Given the description of an element on the screen output the (x, y) to click on. 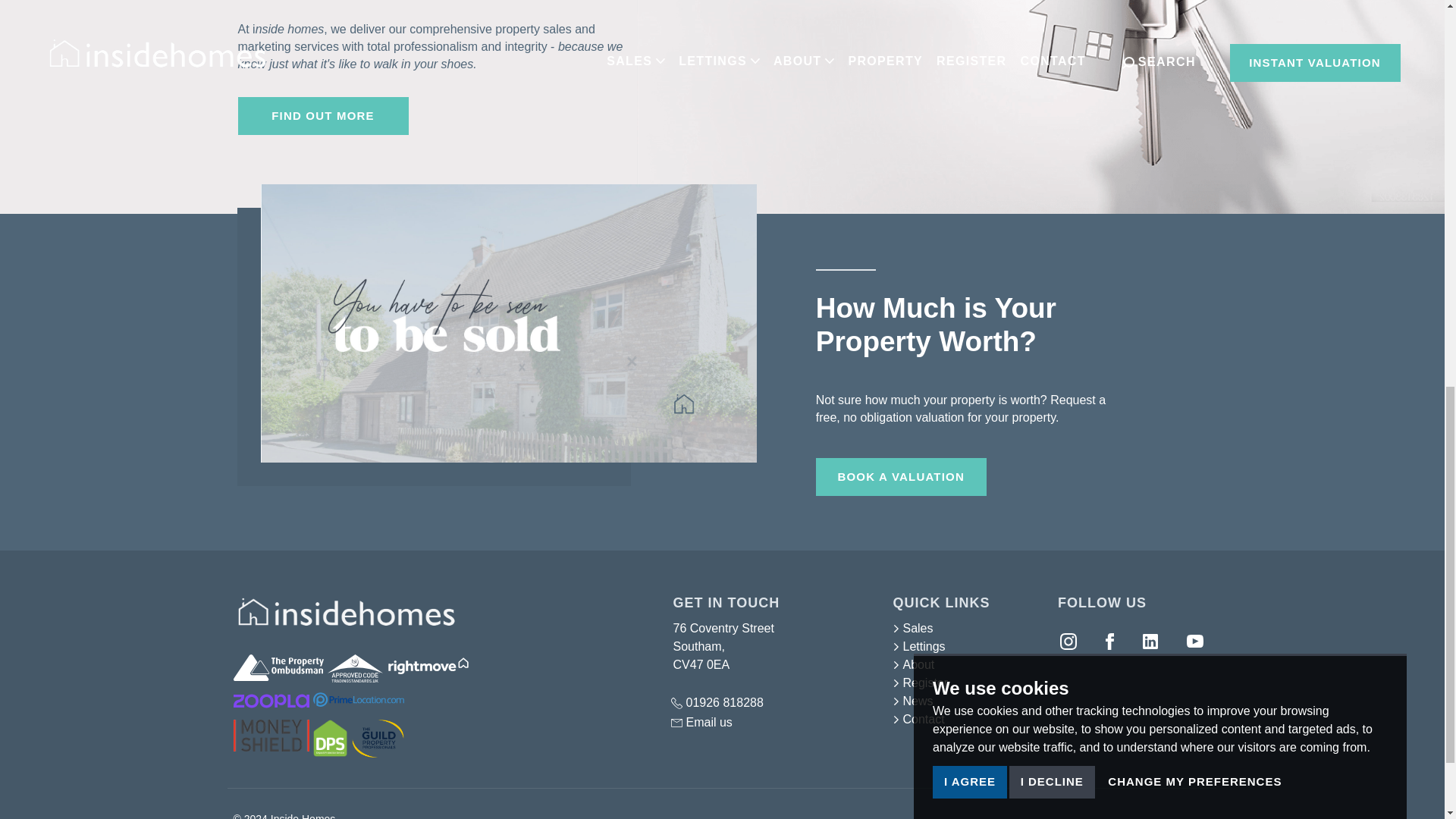
BOOK A VALUATION (901, 476)
FIND OUT MORE (323, 116)
I DECLINE (1051, 109)
I AGREE (970, 113)
CHANGE MY PREFERENCES (1194, 106)
